Given the description of an element on the screen output the (x, y) to click on. 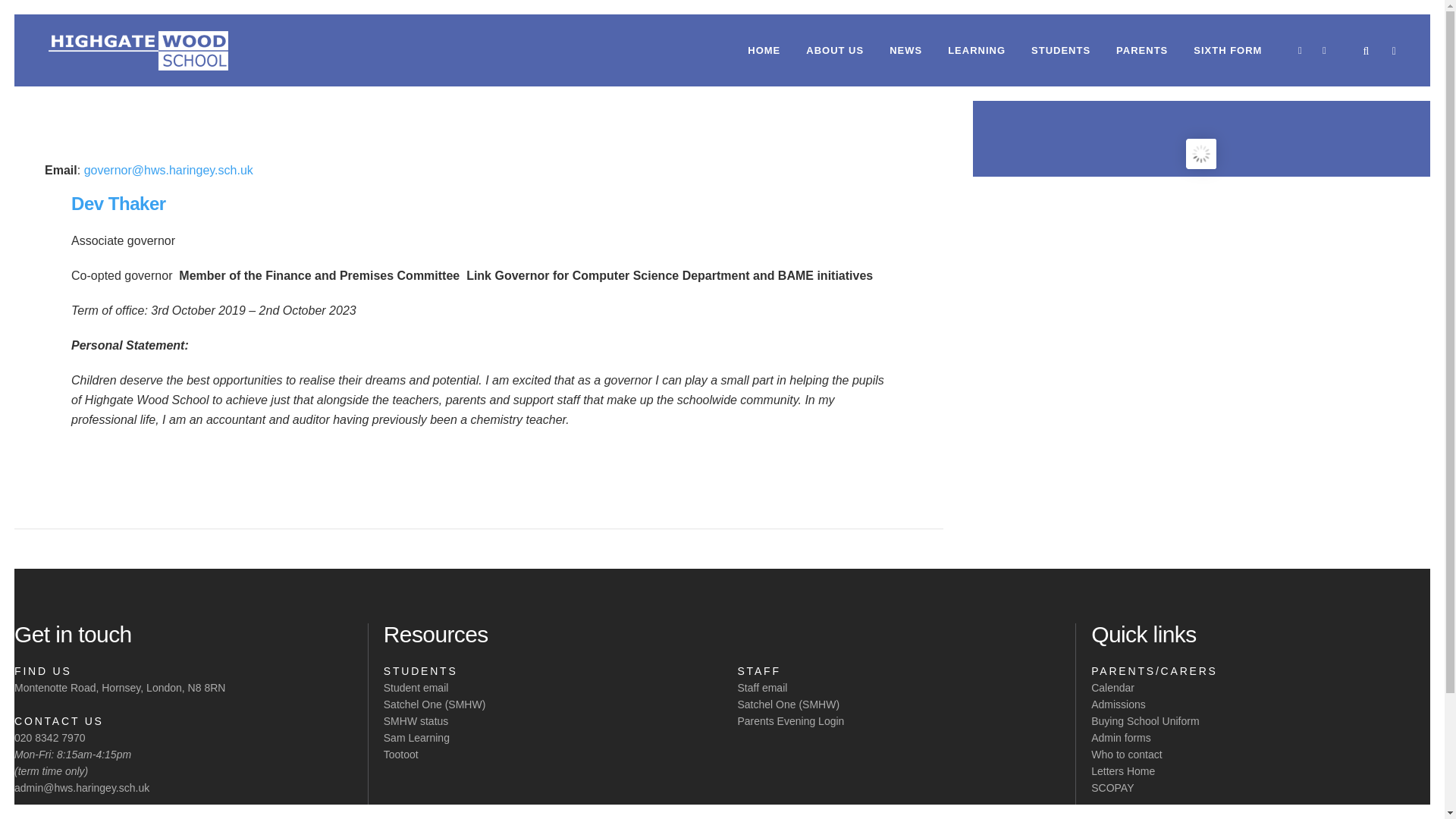
ABOUT US (834, 50)
